Given the description of an element on the screen output the (x, y) to click on. 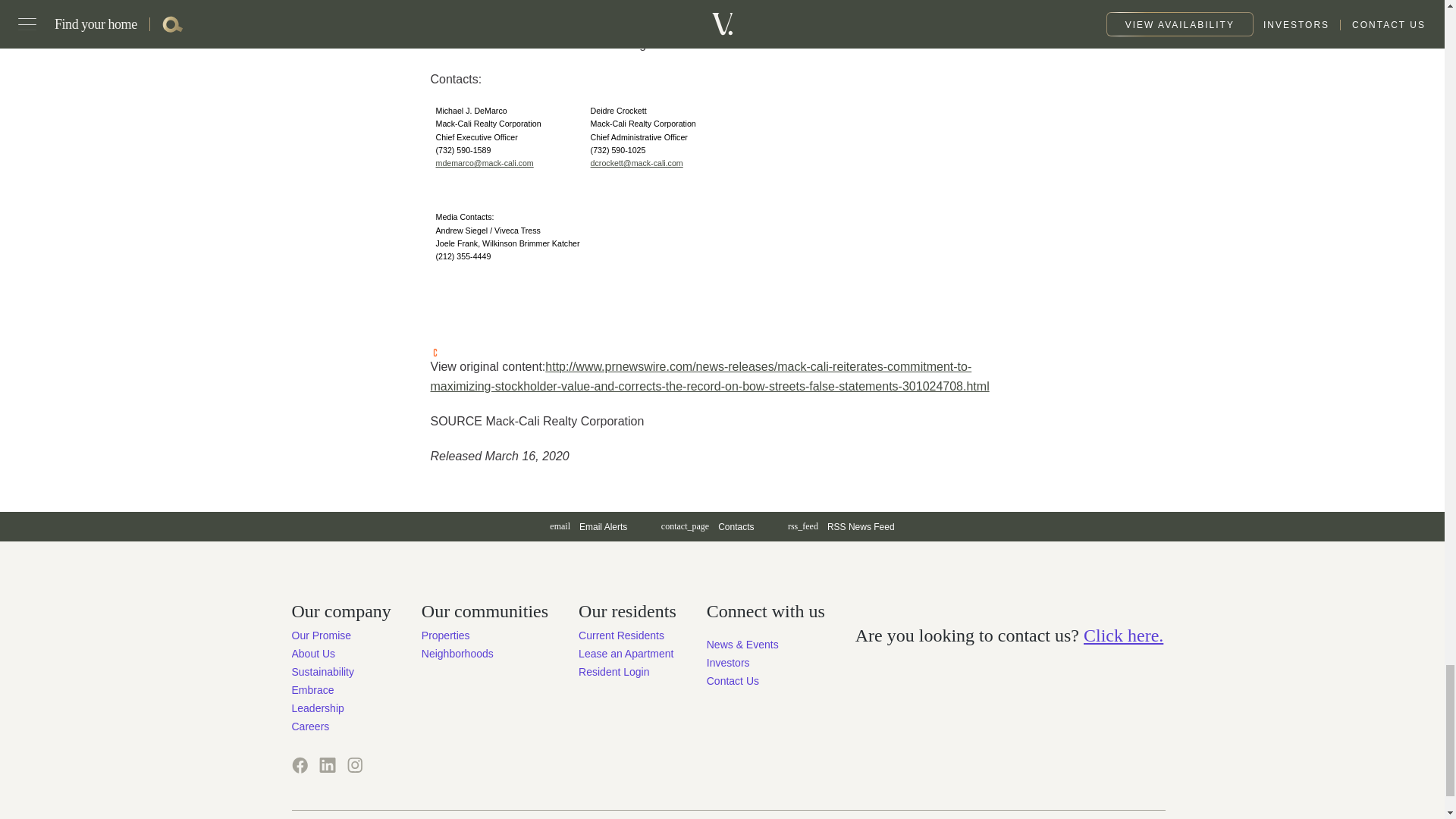
Opens in a new window (299, 764)
Cision (434, 352)
Opens in a new window (727, 662)
Opens in a new window (354, 764)
Opens in a new window (483, 162)
Opens in a new window (326, 764)
Opens in a new window (636, 162)
Opens in a new window (841, 526)
